Given the description of an element on the screen output the (x, y) to click on. 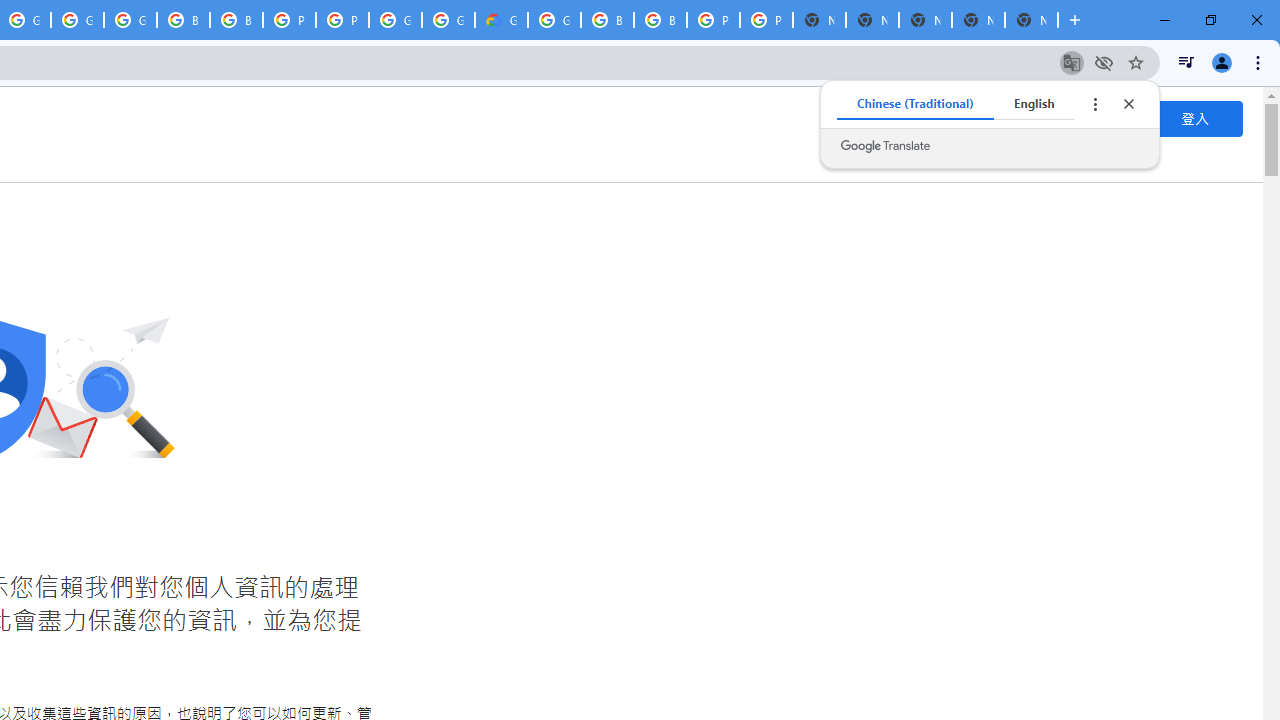
Translate options (1094, 103)
Google Cloud Platform (395, 20)
